Given the description of an element on the screen output the (x, y) to click on. 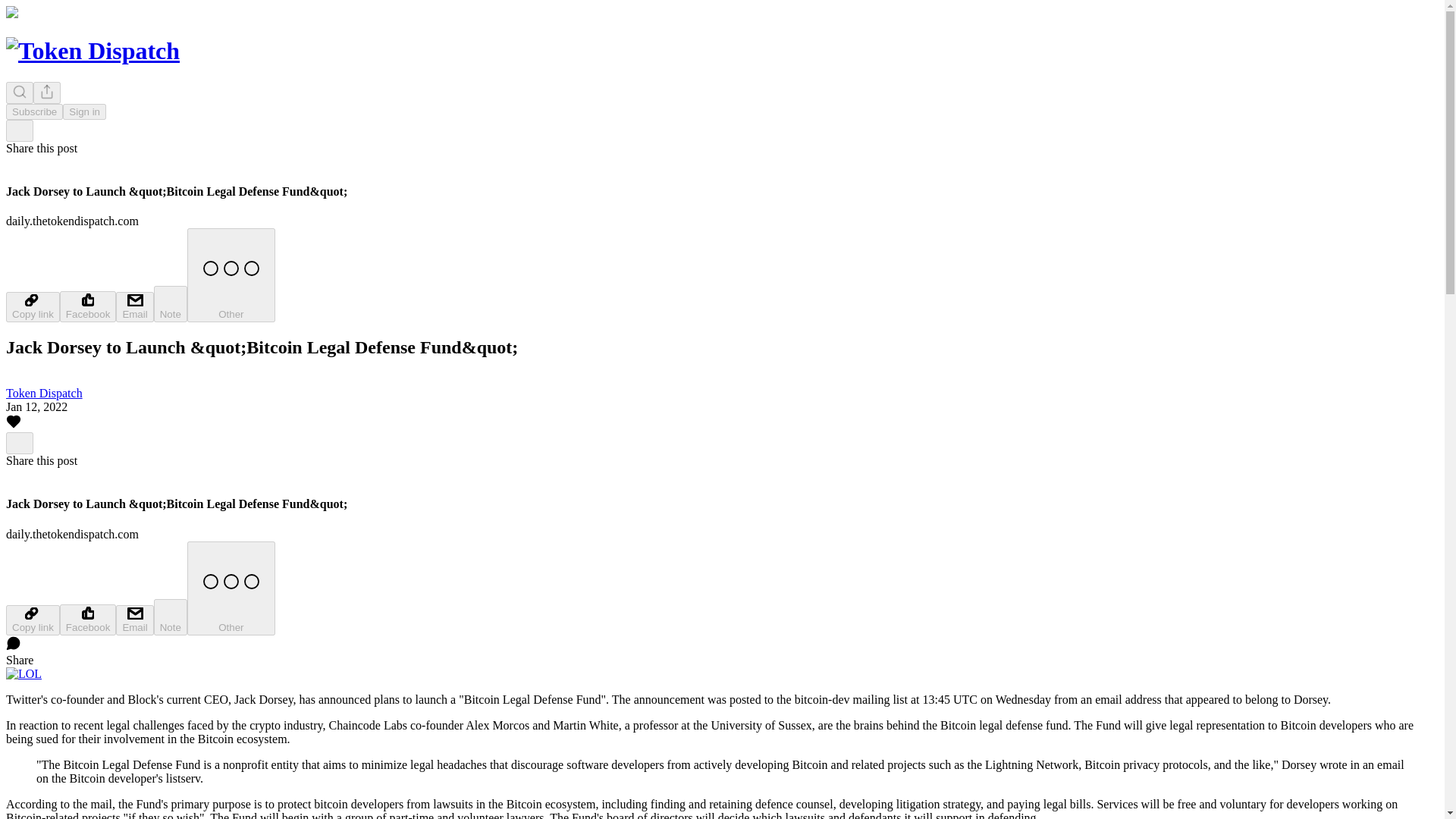
Token Dispatch (43, 392)
Note (170, 303)
Email (134, 620)
LOL (23, 673)
Subscribe (33, 111)
Copy link (32, 620)
Facebook (87, 619)
Facebook (87, 306)
Sign in (84, 111)
Other (231, 588)
